Given the description of an element on the screen output the (x, y) to click on. 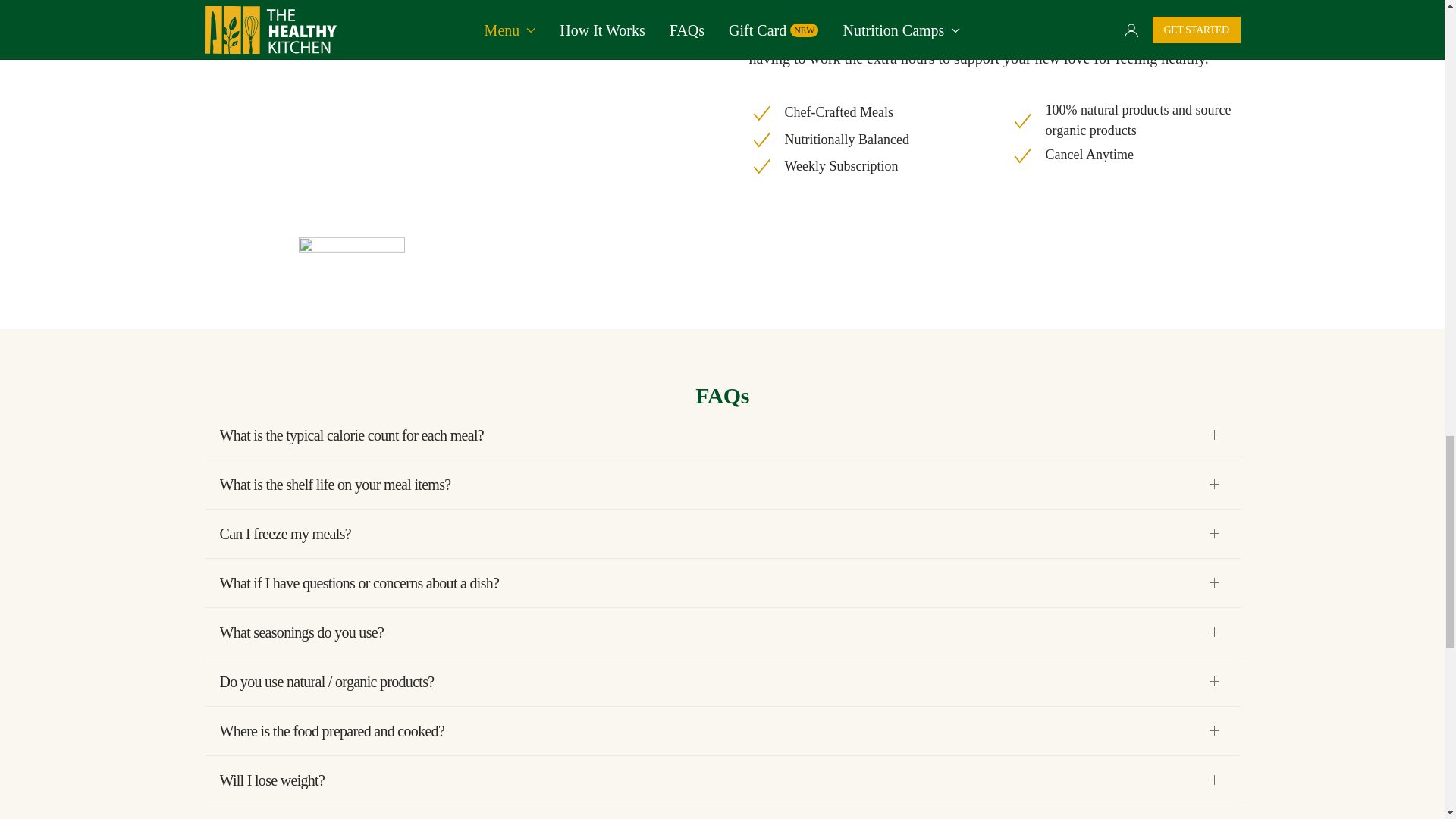
What if I have questions or concerns about a dish? (722, 582)
What seasonings do you use? (722, 631)
Can I freeze my meals? (722, 533)
What is the typical calorie count for each meal? (722, 435)
What is the shelf life on your meal items? (722, 484)
